Given the description of an element on the screen output the (x, y) to click on. 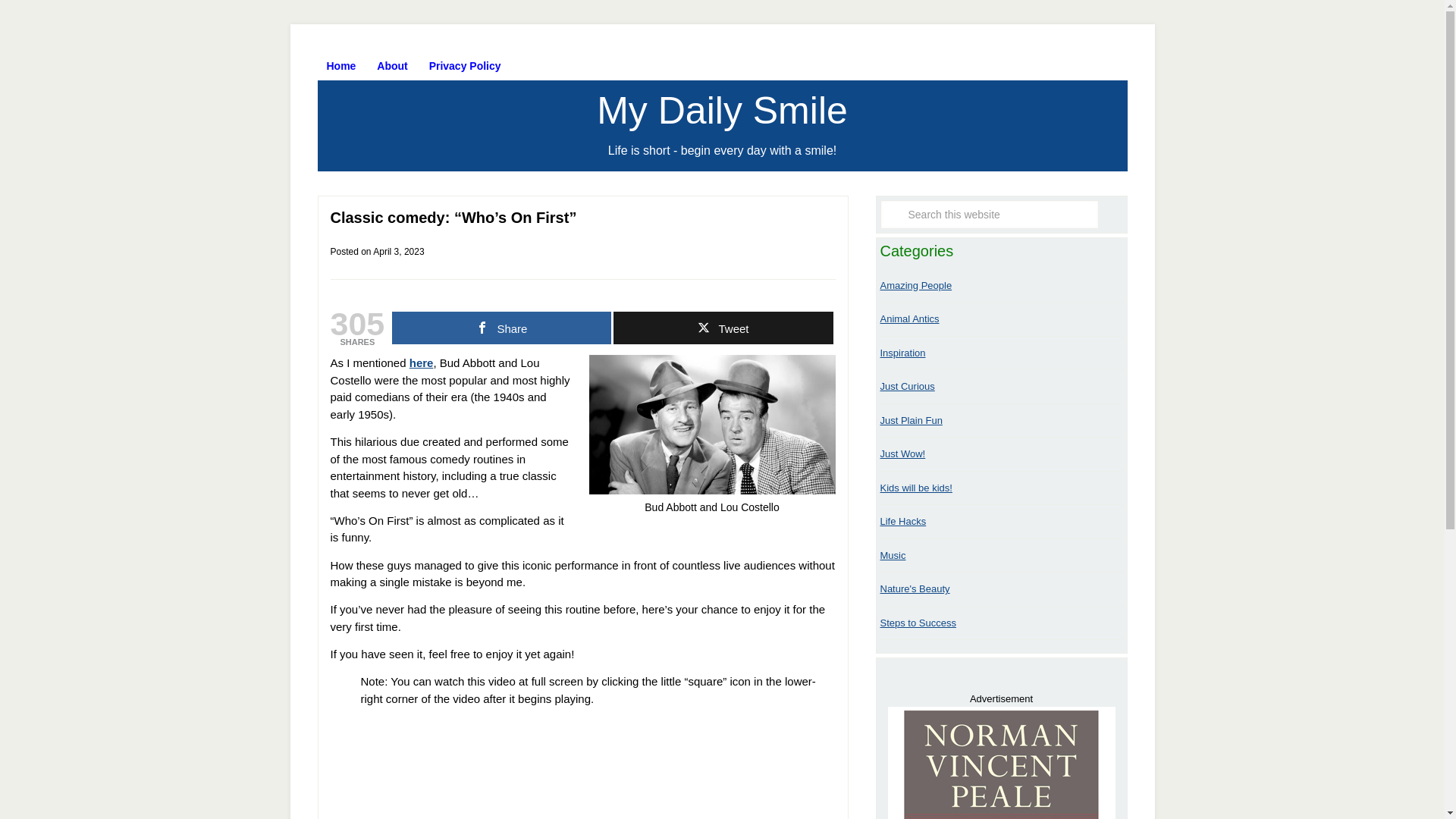
Inspiration (901, 352)
Privacy Policy (465, 65)
Just Plain Fun (910, 419)
Just Curious (906, 386)
Kids will be kids! (915, 487)
Just Wow! (901, 453)
Share (501, 327)
Amazing People (915, 285)
